Given the description of an element on the screen output the (x, y) to click on. 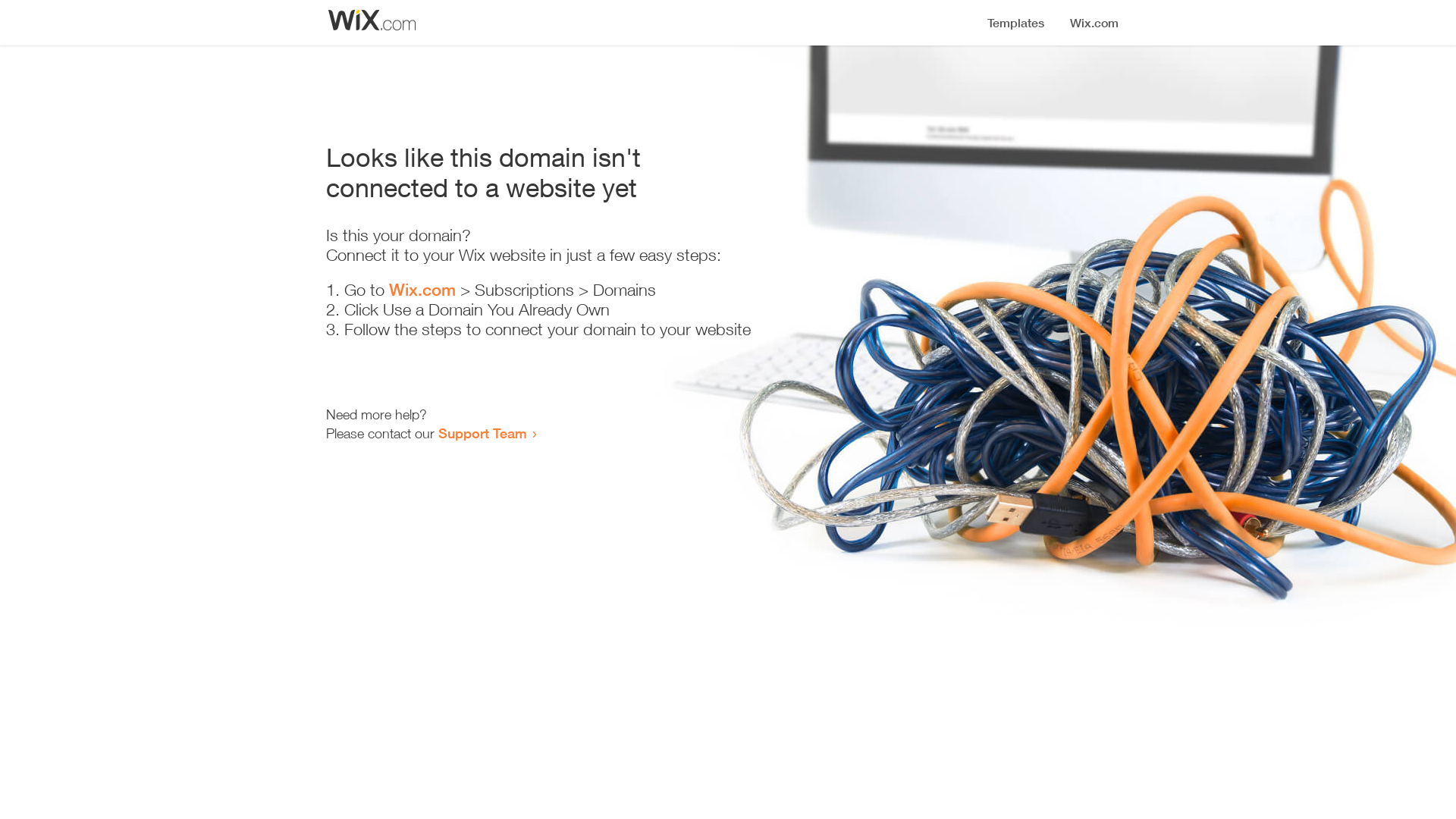
Support Team Element type: text (482, 432)
Wix.com Element type: text (422, 289)
